Given the description of an element on the screen output the (x, y) to click on. 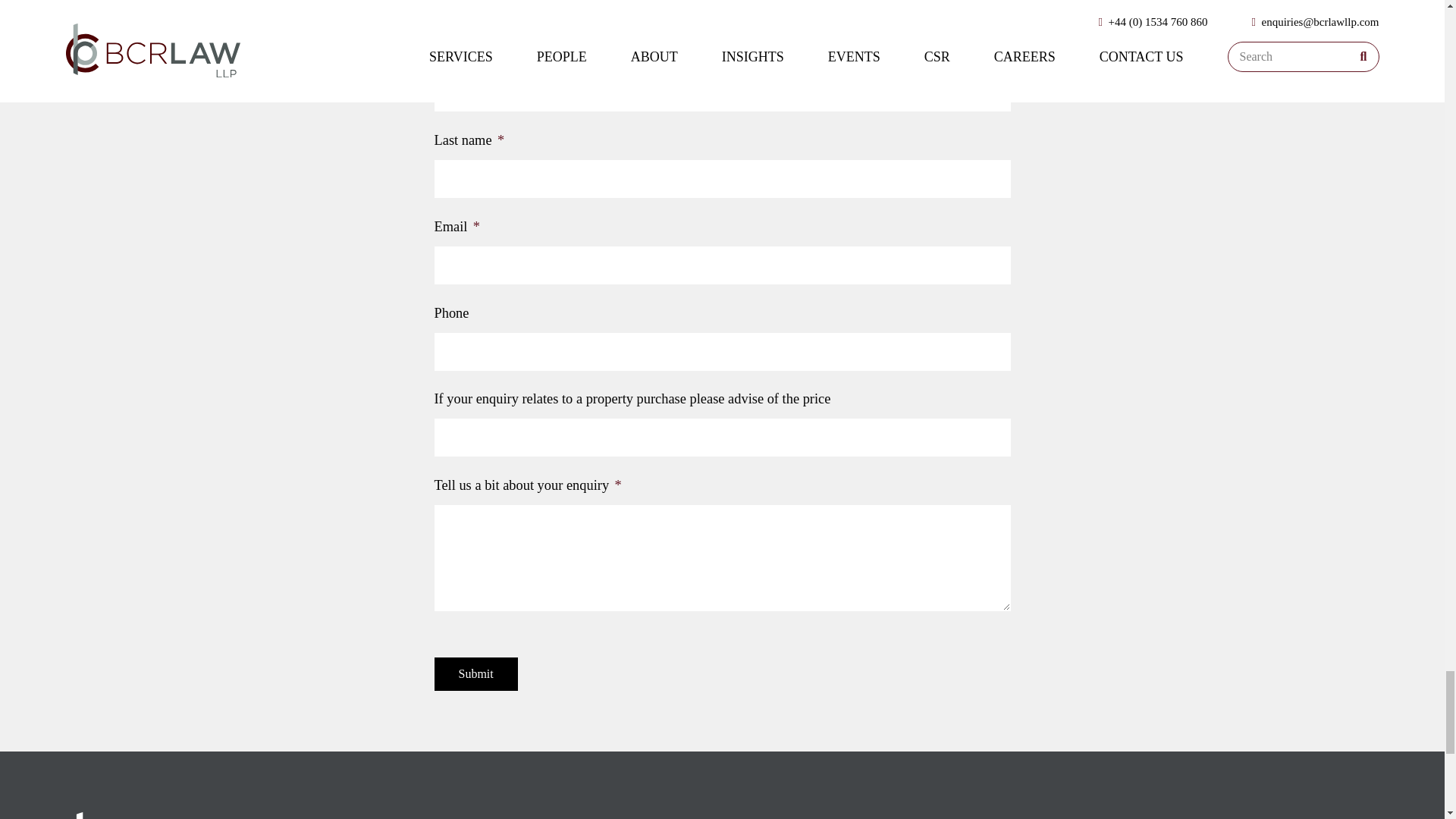
Submit (474, 674)
